Given the description of an element on the screen output the (x, y) to click on. 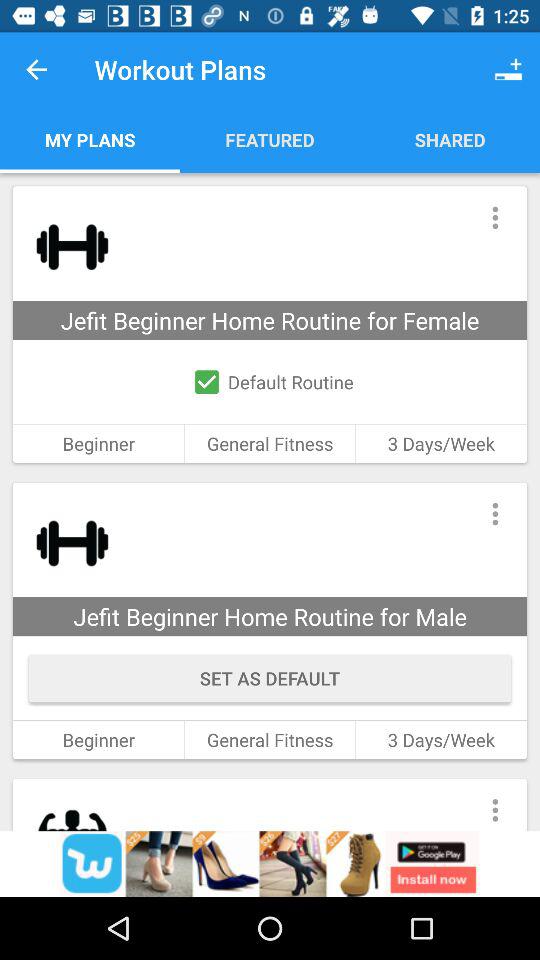
click the three dots button on the bottom right corner of the web page (495, 804)
select the tab shared on the web page (450, 139)
the icon shown at the top right cornerof the page (508, 69)
